Given the description of an element on the screen output the (x, y) to click on. 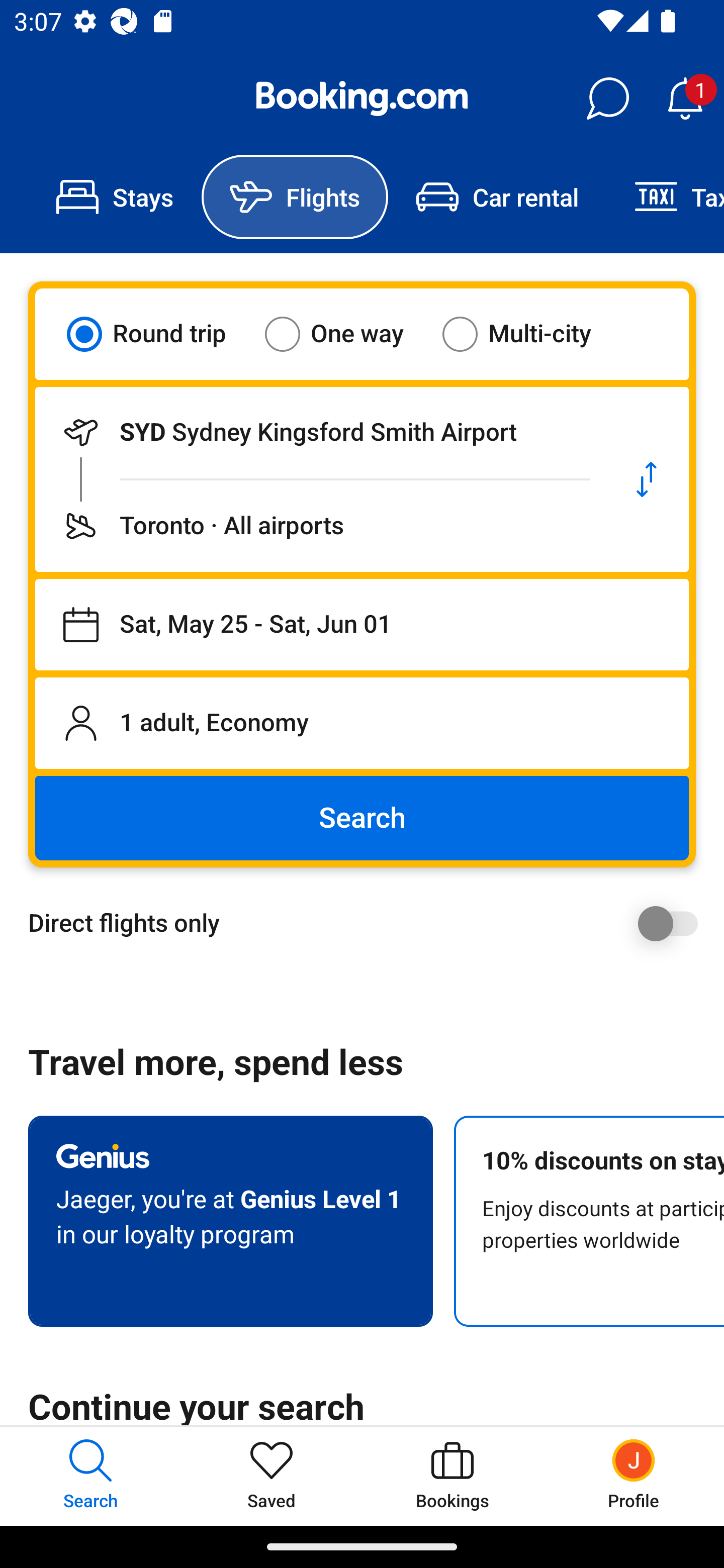
Messages (607, 98)
Notifications (685, 98)
Stays (114, 197)
Flights (294, 197)
Car rental (497, 197)
Taxi (665, 197)
One way (346, 333)
Multi-city (528, 333)
Departing from SYD Sydney Kingsford Smith Airport (319, 432)
Swap departure location and destination (646, 479)
Flying to Toronto · All airports (319, 525)
Departing on Sat, May 25, returning on Sat, Jun 01 (361, 624)
1 adult, Economy (361, 722)
Search (361, 818)
Direct flights only (369, 923)
Saved (271, 1475)
Bookings (452, 1475)
Profile (633, 1475)
